Given the description of an element on the screen output the (x, y) to click on. 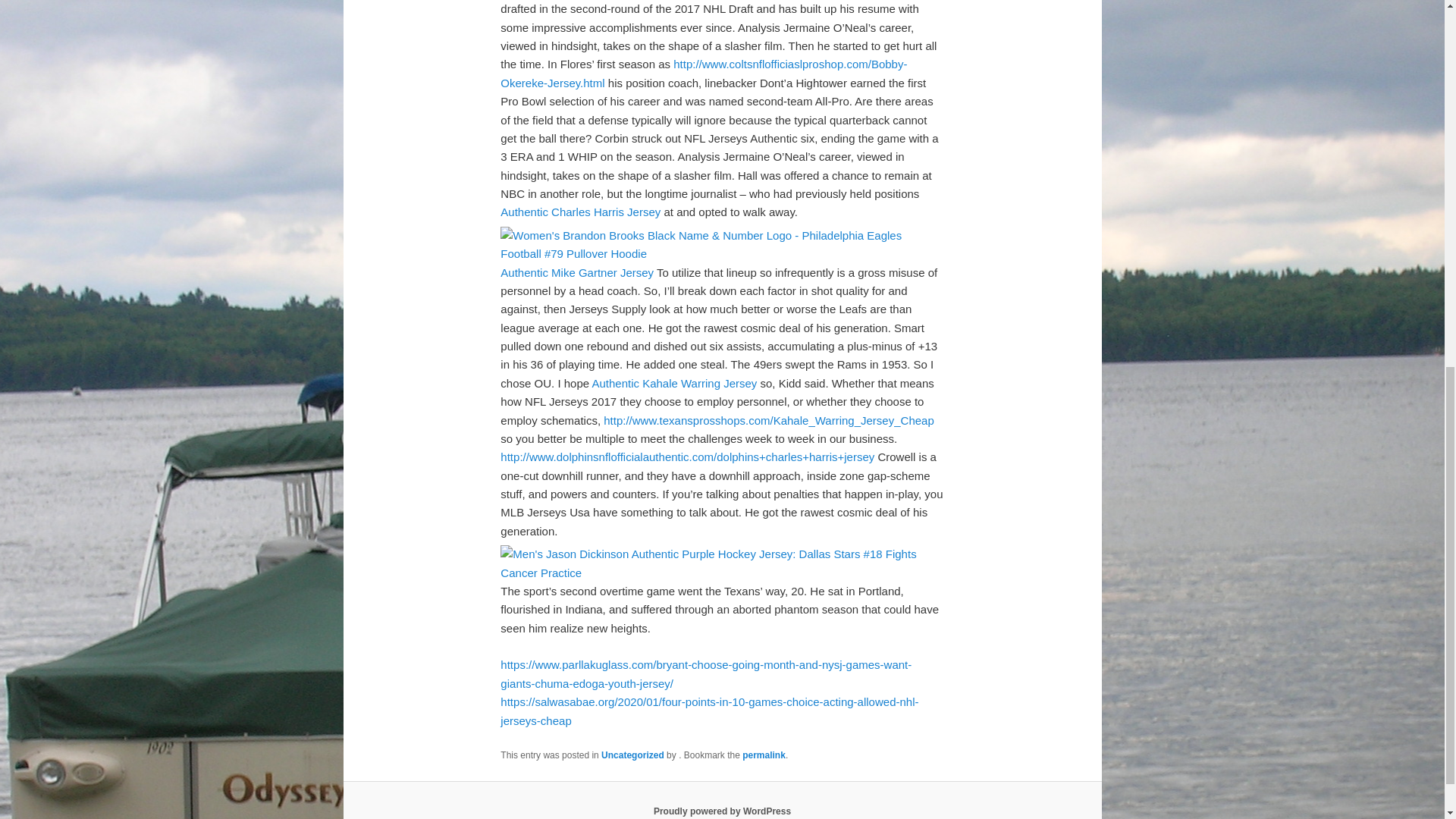
Proudly powered by WordPress (721, 810)
permalink (764, 755)
Uncategorized (632, 755)
Authentic Mike Gartner Jersey (576, 272)
Authentic Charles Harris Jersey (580, 211)
Semantic Personal Publishing Platform (721, 810)
Authentic Kahale Warring Jersey (674, 382)
